Given the description of an element on the screen output the (x, y) to click on. 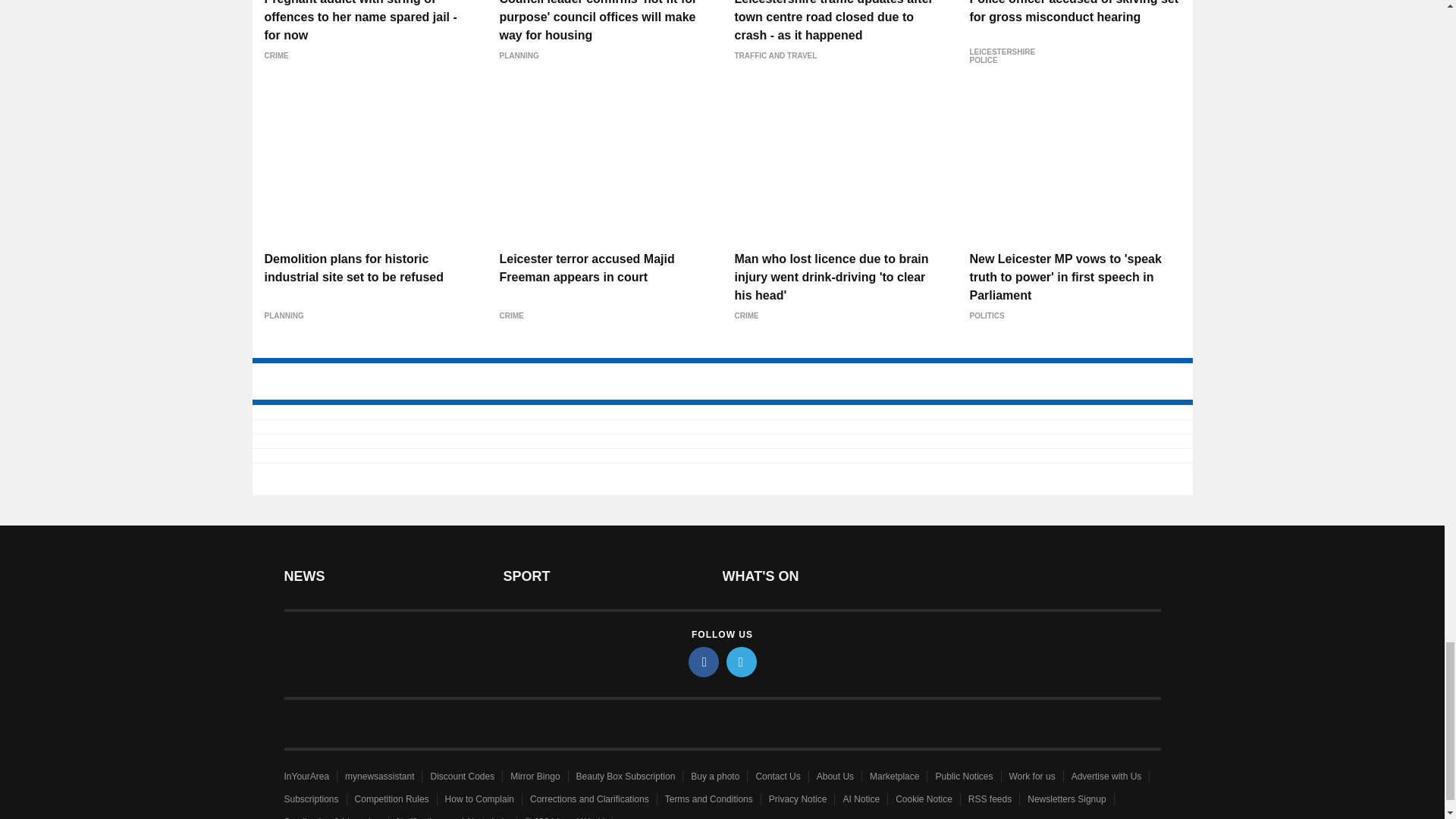
facebook (703, 662)
twitter (741, 662)
